Given the description of an element on the screen output the (x, y) to click on. 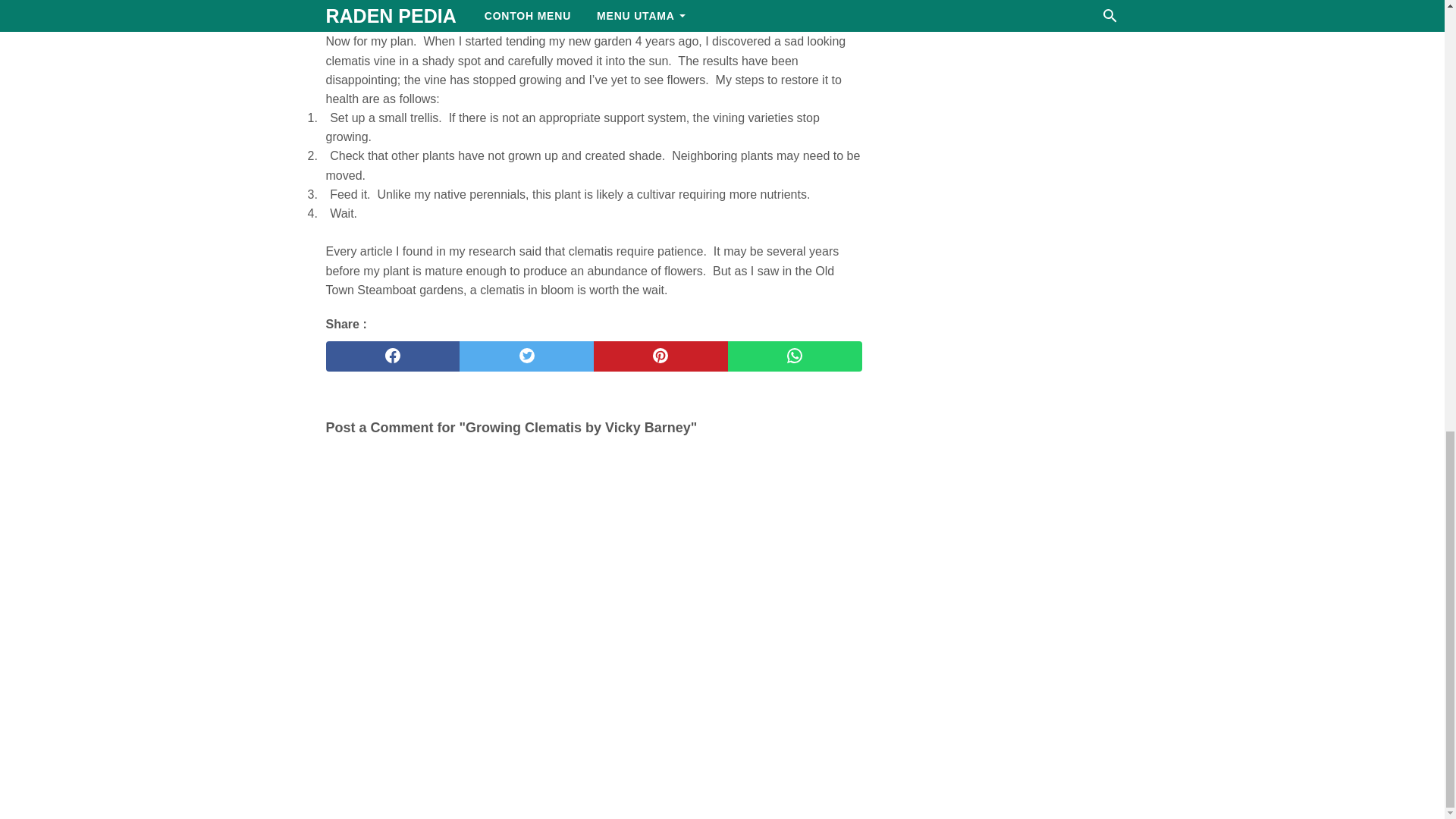
whatsapp (794, 356)
facebook (393, 356)
pinterest (661, 356)
twitter (527, 356)
